Given the description of an element on the screen output the (x, y) to click on. 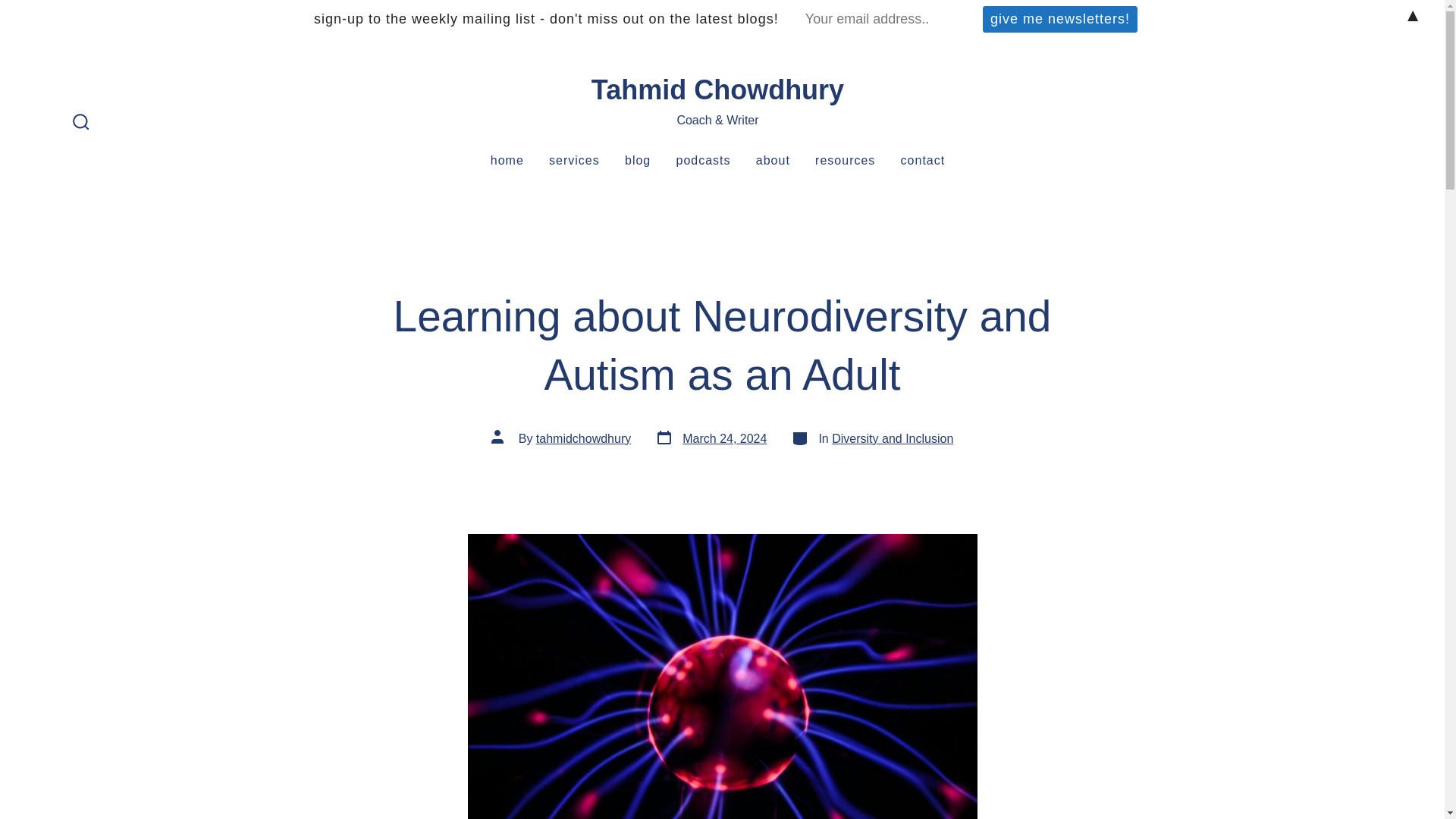
services (573, 160)
home (507, 160)
about (772, 160)
resources (845, 160)
search toggle (81, 122)
tahmidchowdhury (582, 438)
podcasts (711, 438)
contact (703, 160)
Give me newsletters! (922, 160)
